Given the description of an element on the screen output the (x, y) to click on. 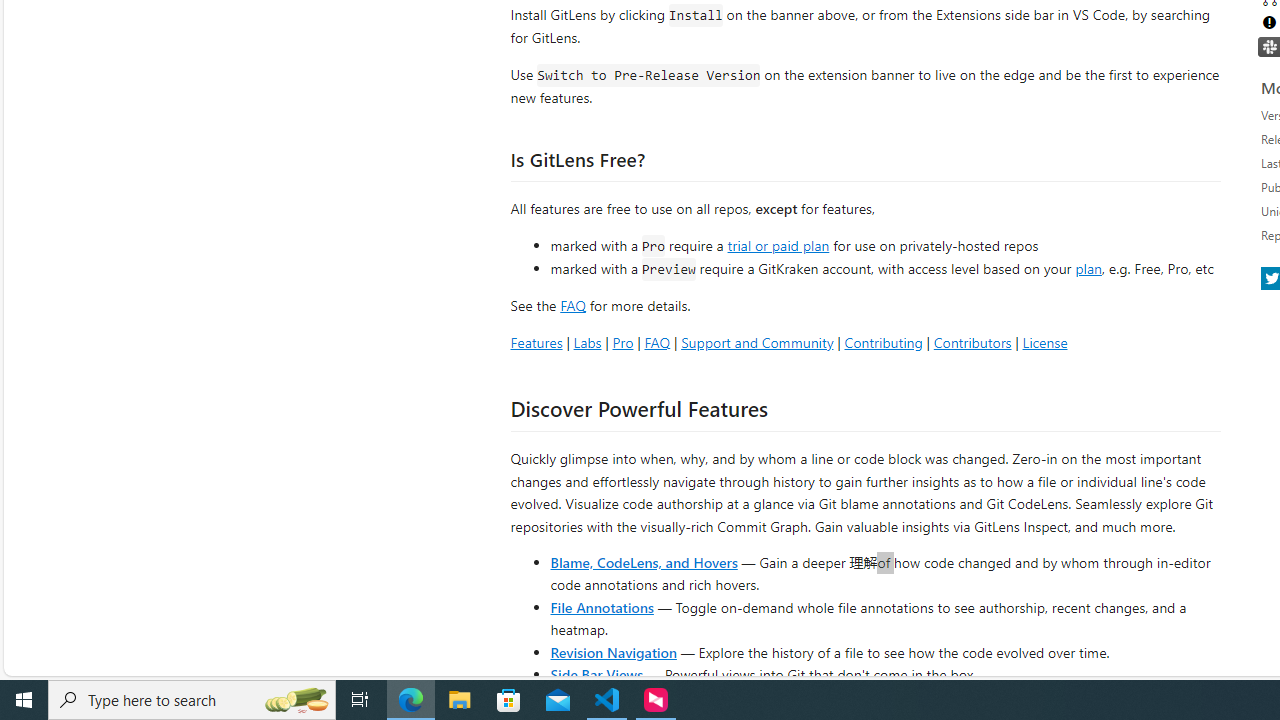
Revision Navigation (613, 651)
FAQ (656, 341)
Side Bar Views (596, 673)
Pro (622, 341)
Features (536, 341)
Support and Community (757, 341)
plan (1088, 269)
Contributing (882, 341)
trial or paid plan (778, 244)
License (1044, 341)
Labs (587, 341)
